Given the description of an element on the screen output the (x, y) to click on. 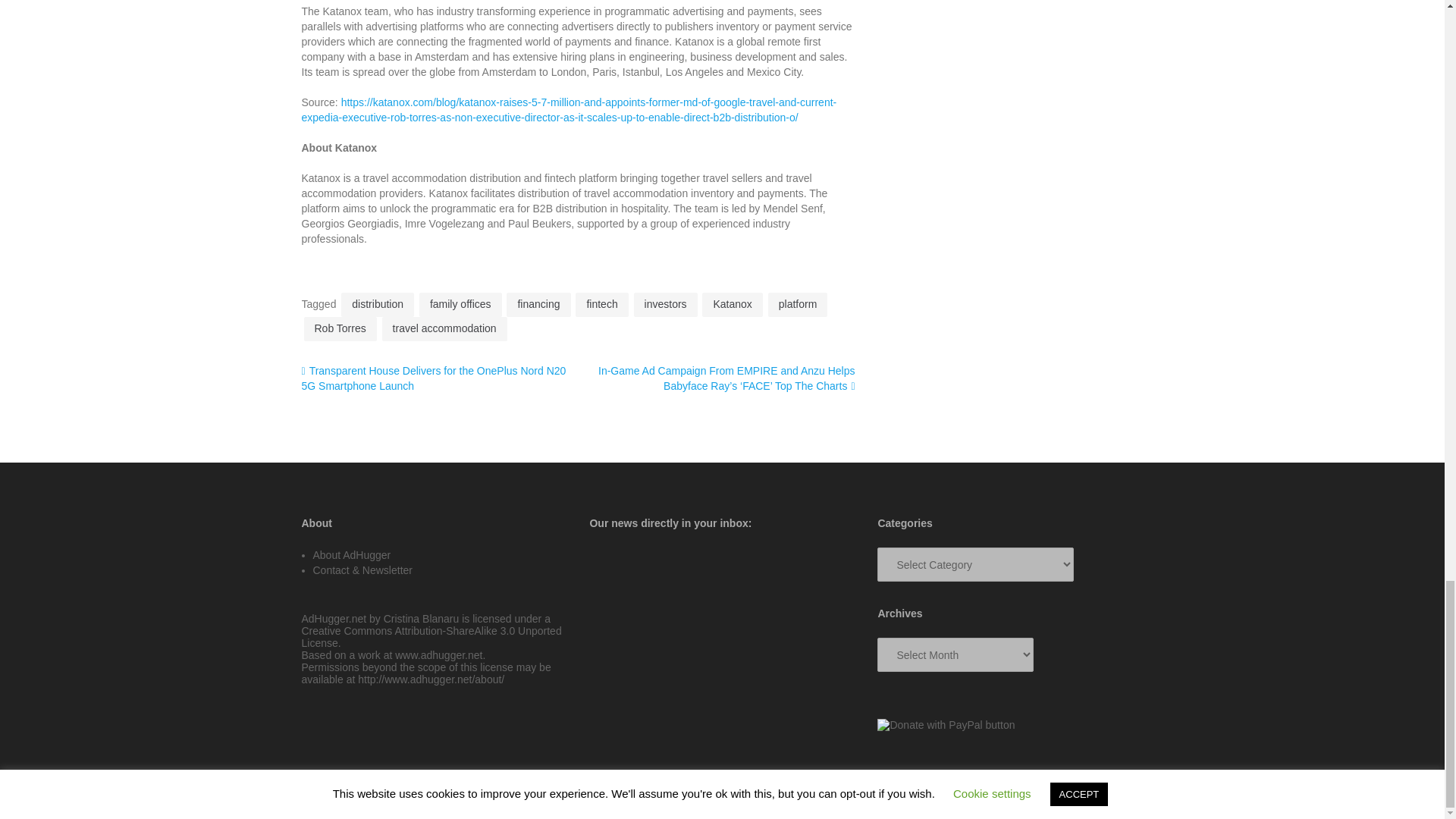
PayPal - The safer, easier way to pay online! (945, 725)
